Given the description of an element on the screen output the (x, y) to click on. 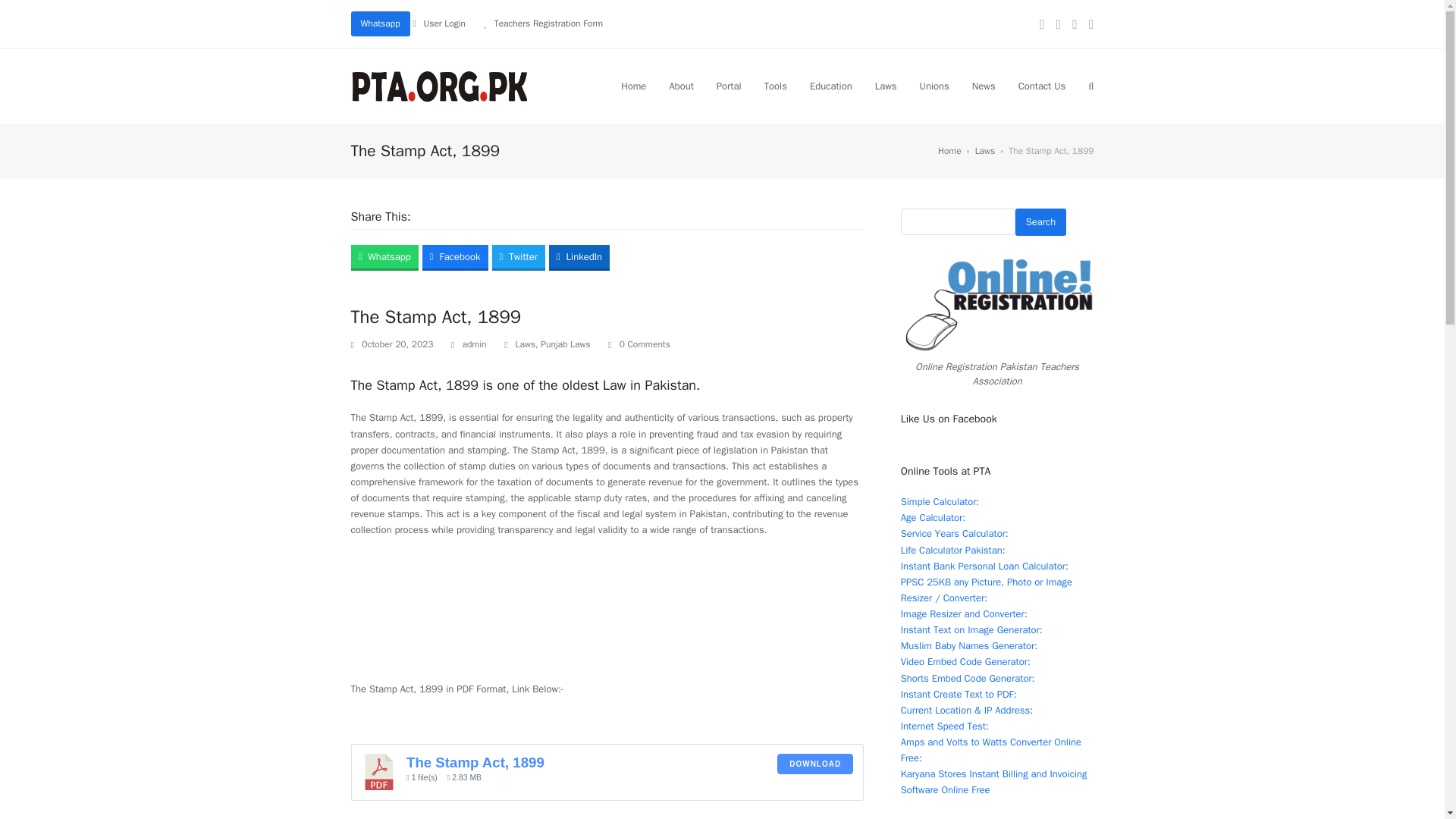
Whatsapp (379, 23)
The Stamp Act, 1899 1 (379, 771)
0 Comments (638, 344)
Teachers Registration Form (548, 23)
User Login (444, 23)
Posts by admin (473, 344)
